Given the description of an element on the screen output the (x, y) to click on. 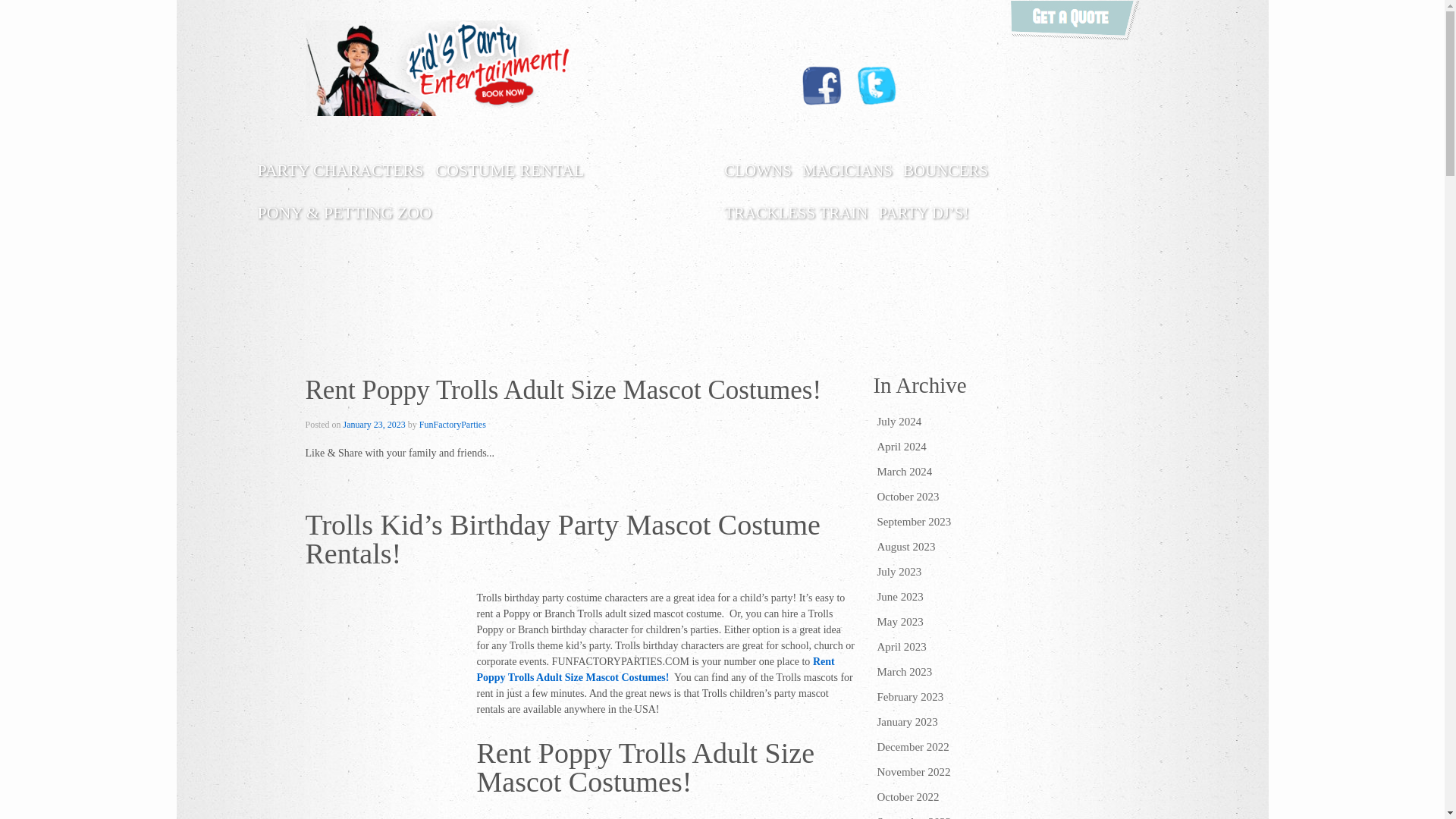
CLOWNS (757, 170)
January 23, 2023 (374, 424)
COSTUME RENTAL (509, 170)
PARTY CHARACTERS (340, 170)
MAGICIANS (847, 170)
TRACKLESS TRAIN (795, 212)
Rent Poppy Trolls Adult Size Mascot Costumes! (655, 669)
BOUNCERS (945, 170)
FunFactoryParties (452, 424)
View all posts by FunFactoryParties (452, 424)
Rent Poppy Trolls Adult Size Mascot Costumes! (374, 424)
